Given the description of an element on the screen output the (x, y) to click on. 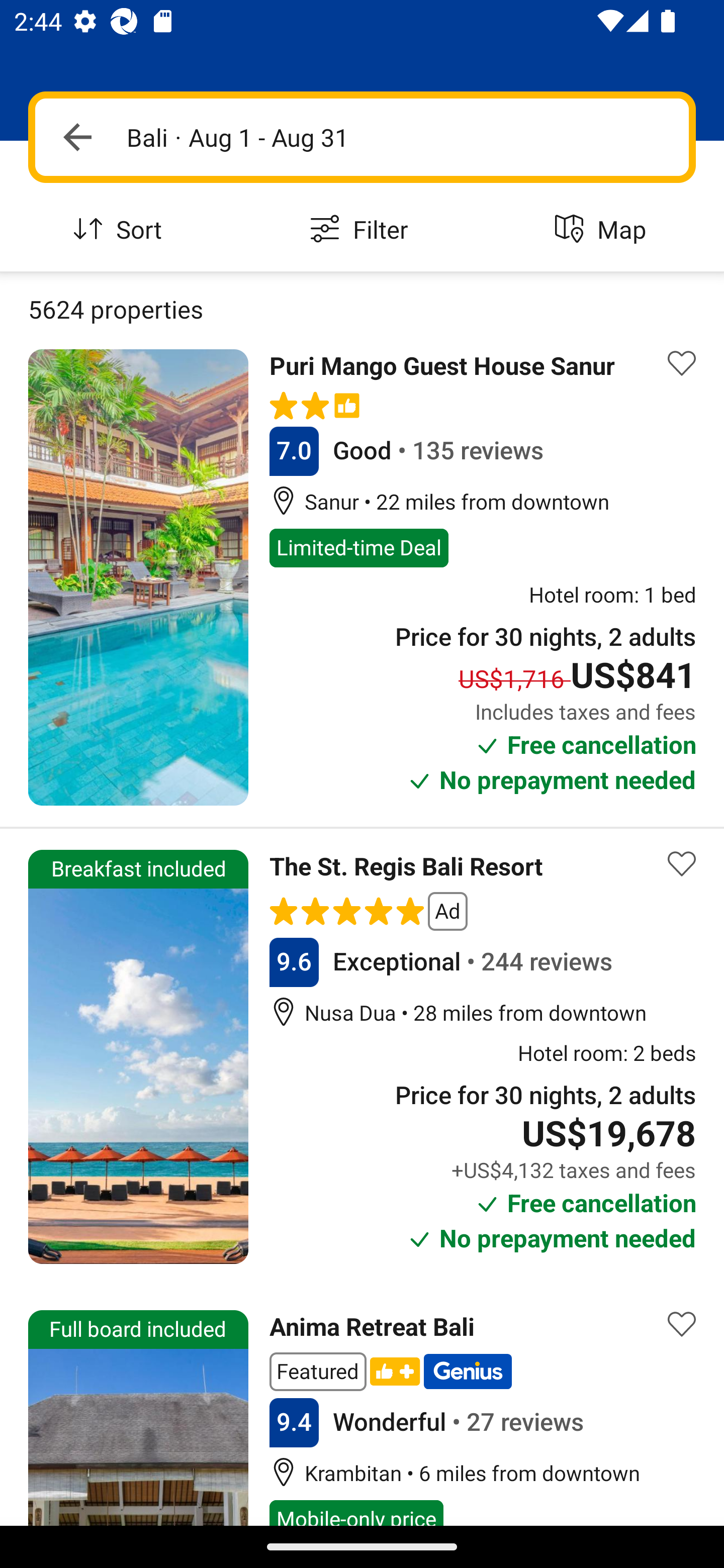
Navigate up Bali · Aug 1 - Aug 31 (362, 136)
Navigate up (77, 136)
Sort (120, 230)
Filter (361, 230)
Map (603, 230)
Save property to list (681, 363)
Save property to list (681, 863)
Save property to list (681, 1323)
